Given the description of an element on the screen output the (x, y) to click on. 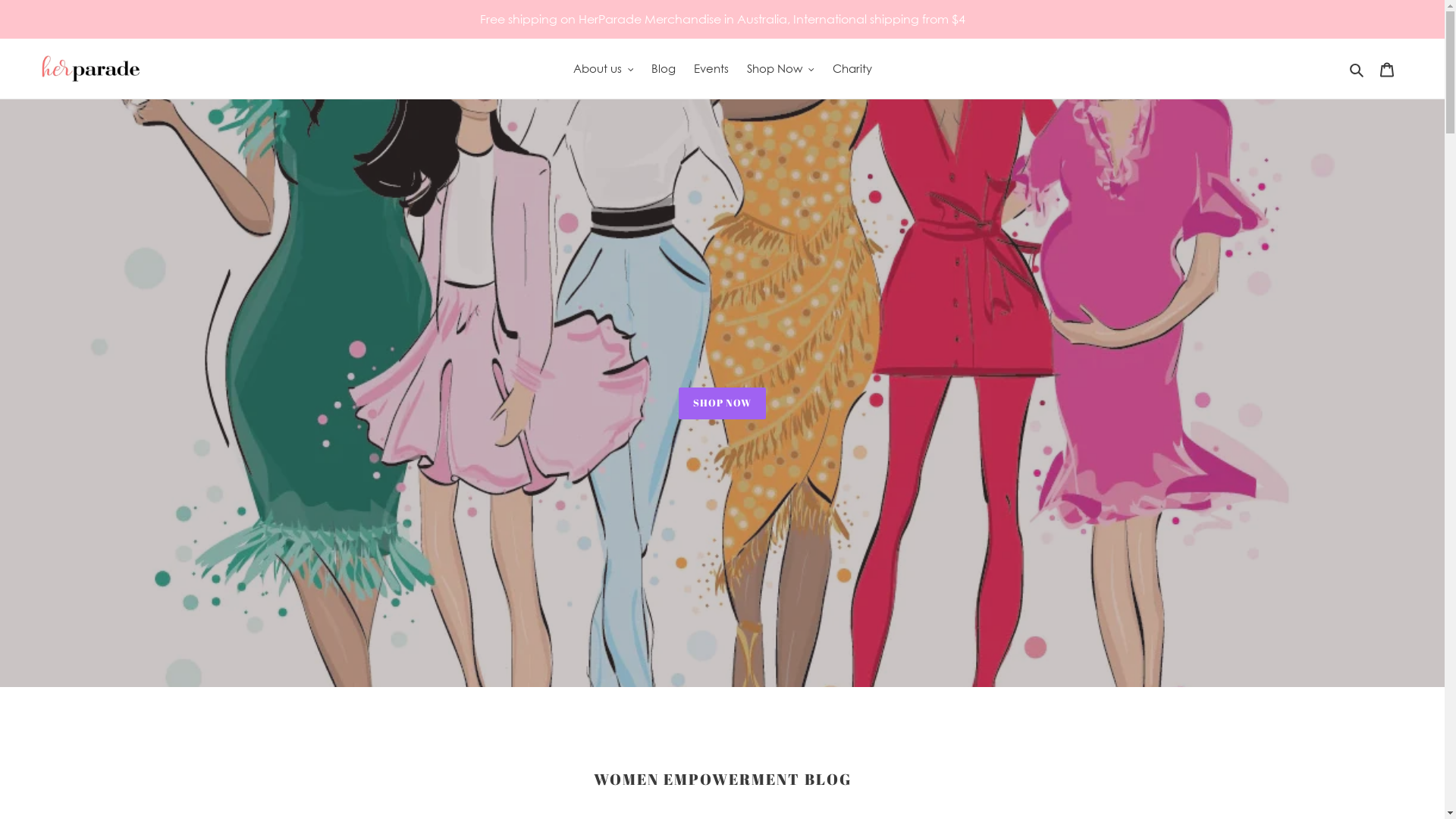
Shop Now Element type: text (780, 68)
Events Element type: text (711, 68)
Charity Element type: text (852, 68)
About us Element type: text (603, 68)
Search Element type: text (1357, 68)
Cart Element type: text (1386, 68)
SHOP NOW Element type: text (721, 403)
Blog Element type: text (663, 68)
